Given the description of an element on the screen output the (x, y) to click on. 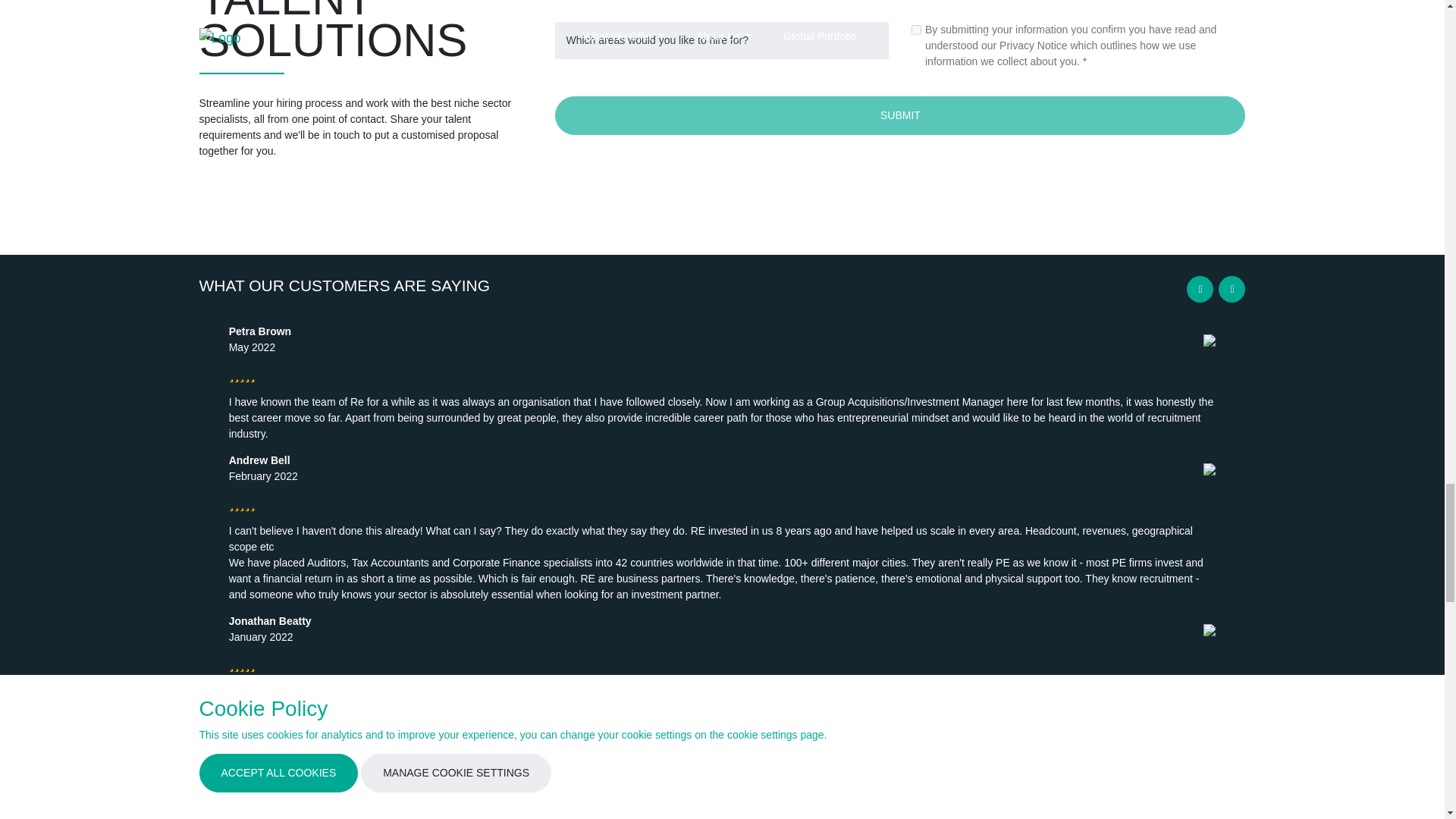
1 (916, 30)
